Given the description of an element on the screen output the (x, y) to click on. 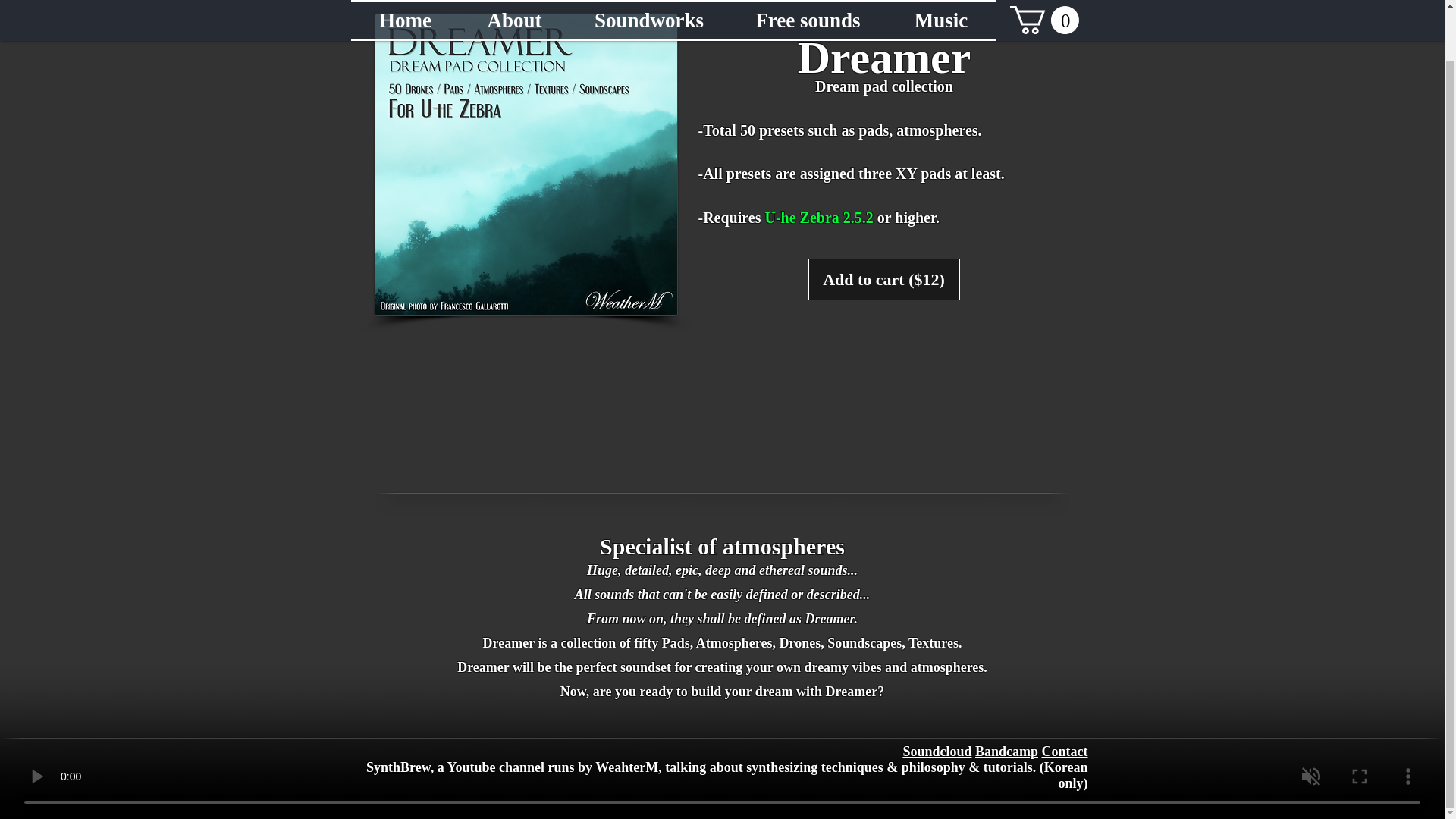
Bandcamp (1006, 751)
Embedded Content (722, 399)
SynthBrew (398, 767)
Contact (1064, 751)
Soundcloud (936, 751)
